Given the description of an element on the screen output the (x, y) to click on. 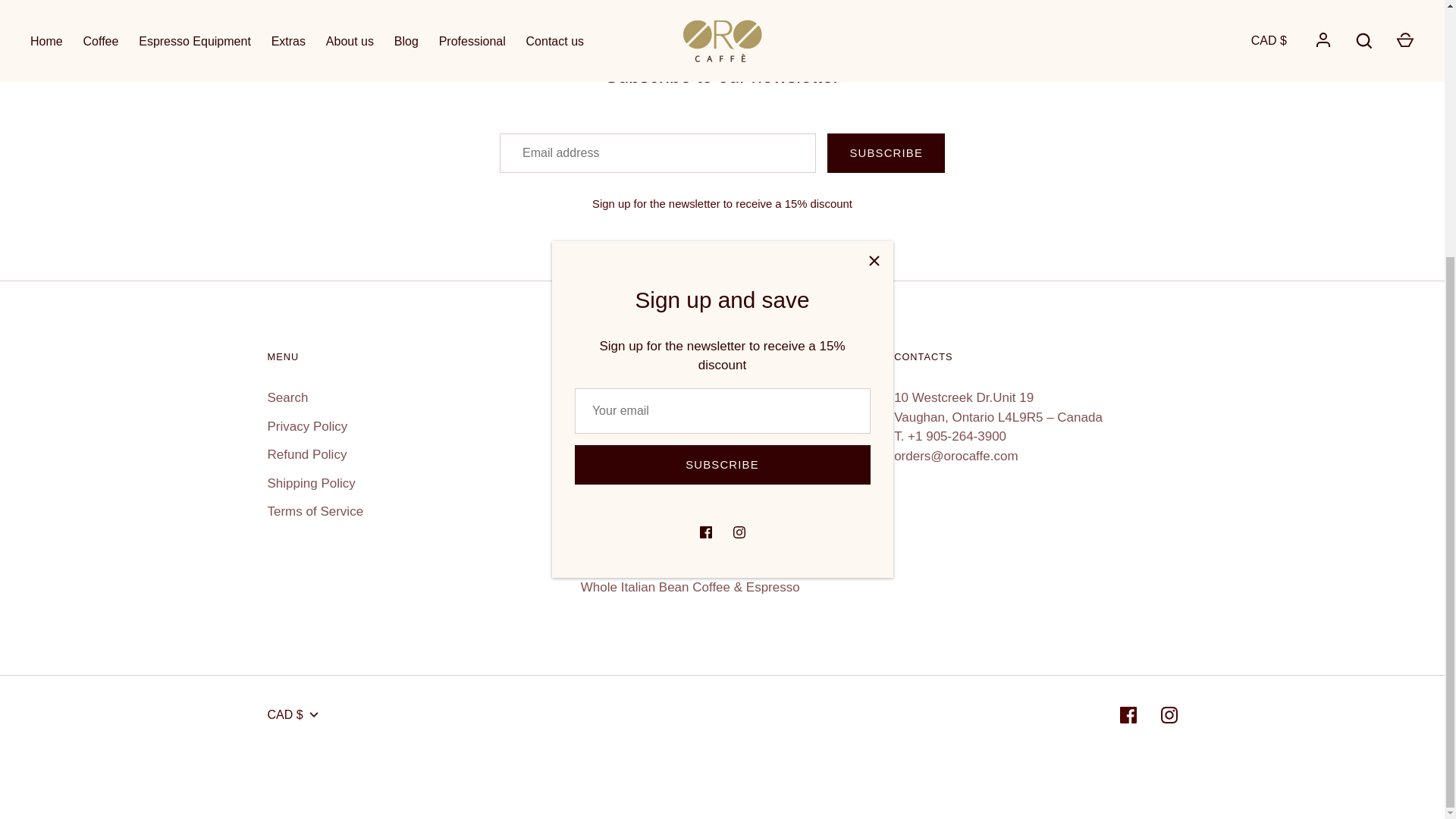
Email (722, 34)
Down (313, 714)
